Given the description of an element on the screen output the (x, y) to click on. 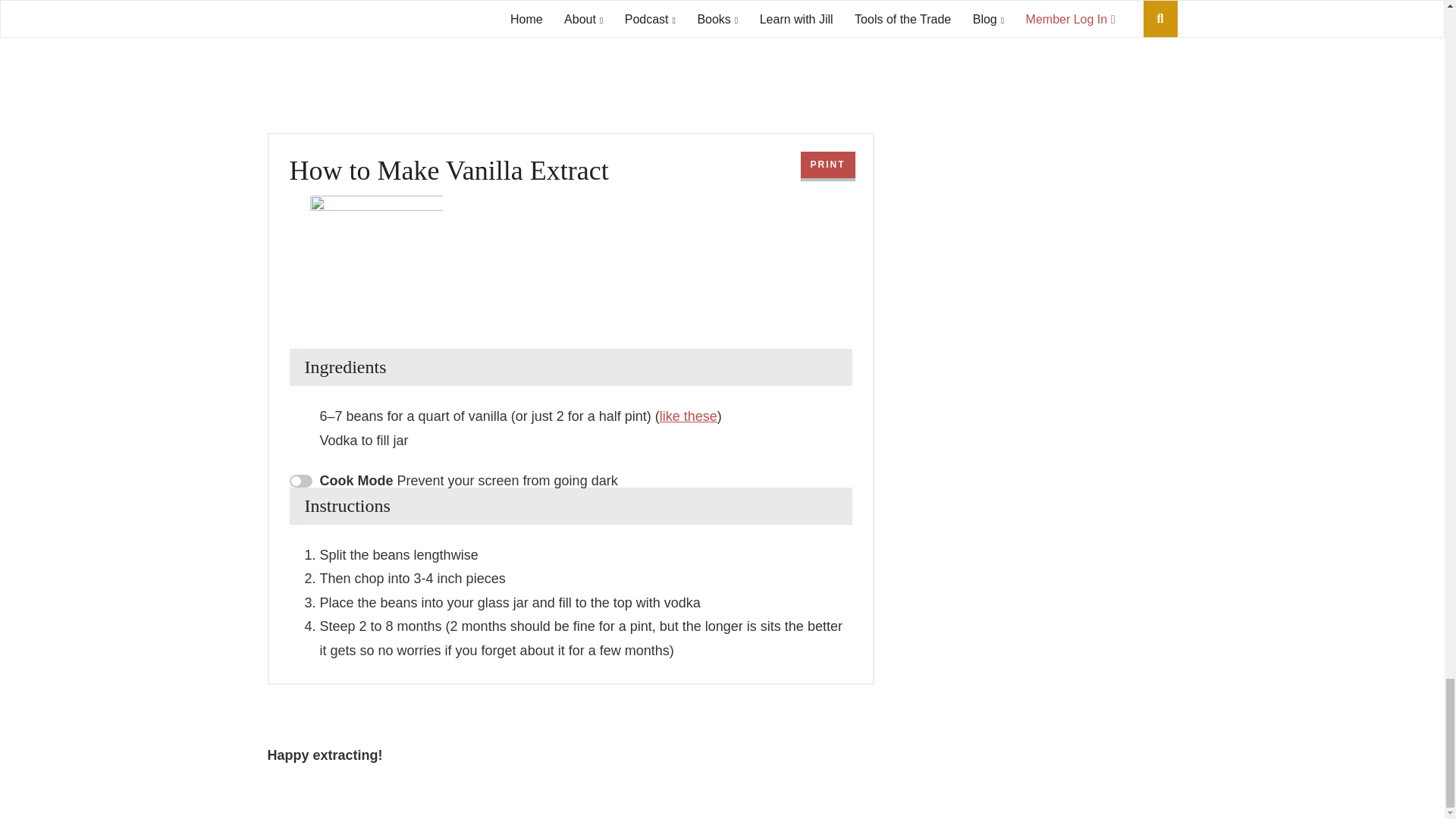
PRINT (828, 164)
like these (688, 416)
